Given the description of an element on the screen output the (x, y) to click on. 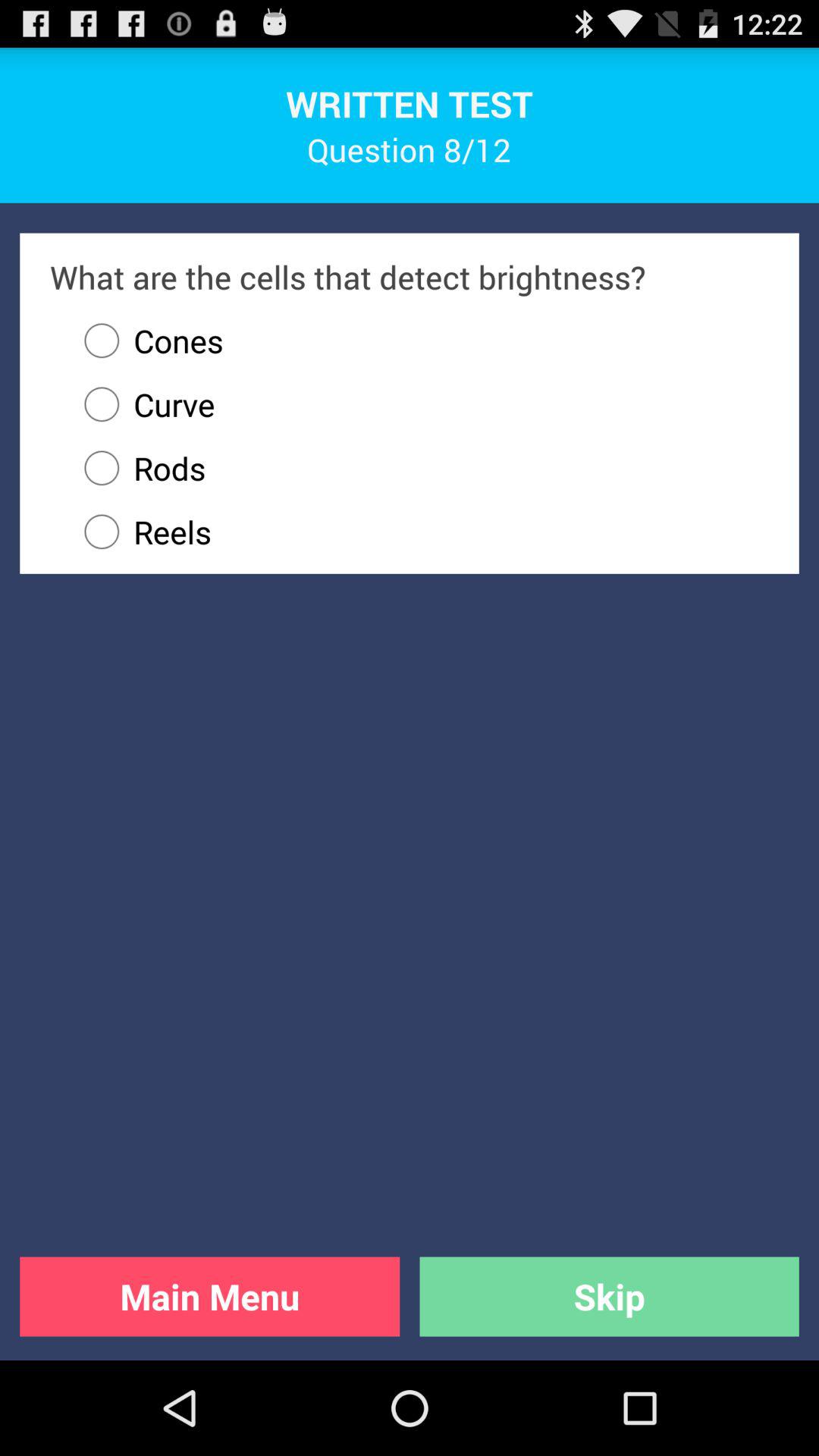
flip until curve (141, 404)
